Given the description of an element on the screen output the (x, y) to click on. 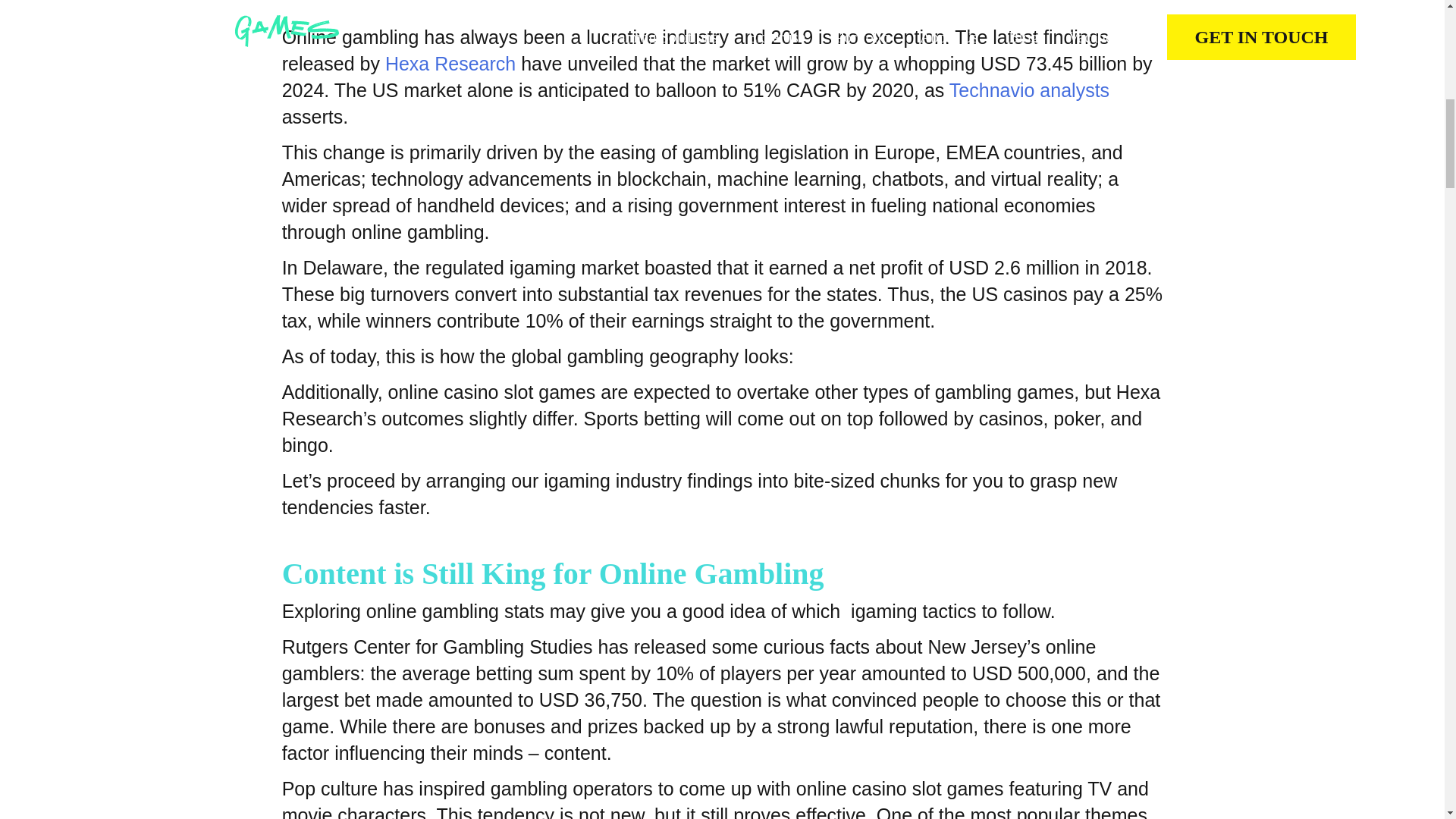
Technavio analysts (1029, 89)
Hexa Research (450, 63)
